Given the description of an element on the screen output the (x, y) to click on. 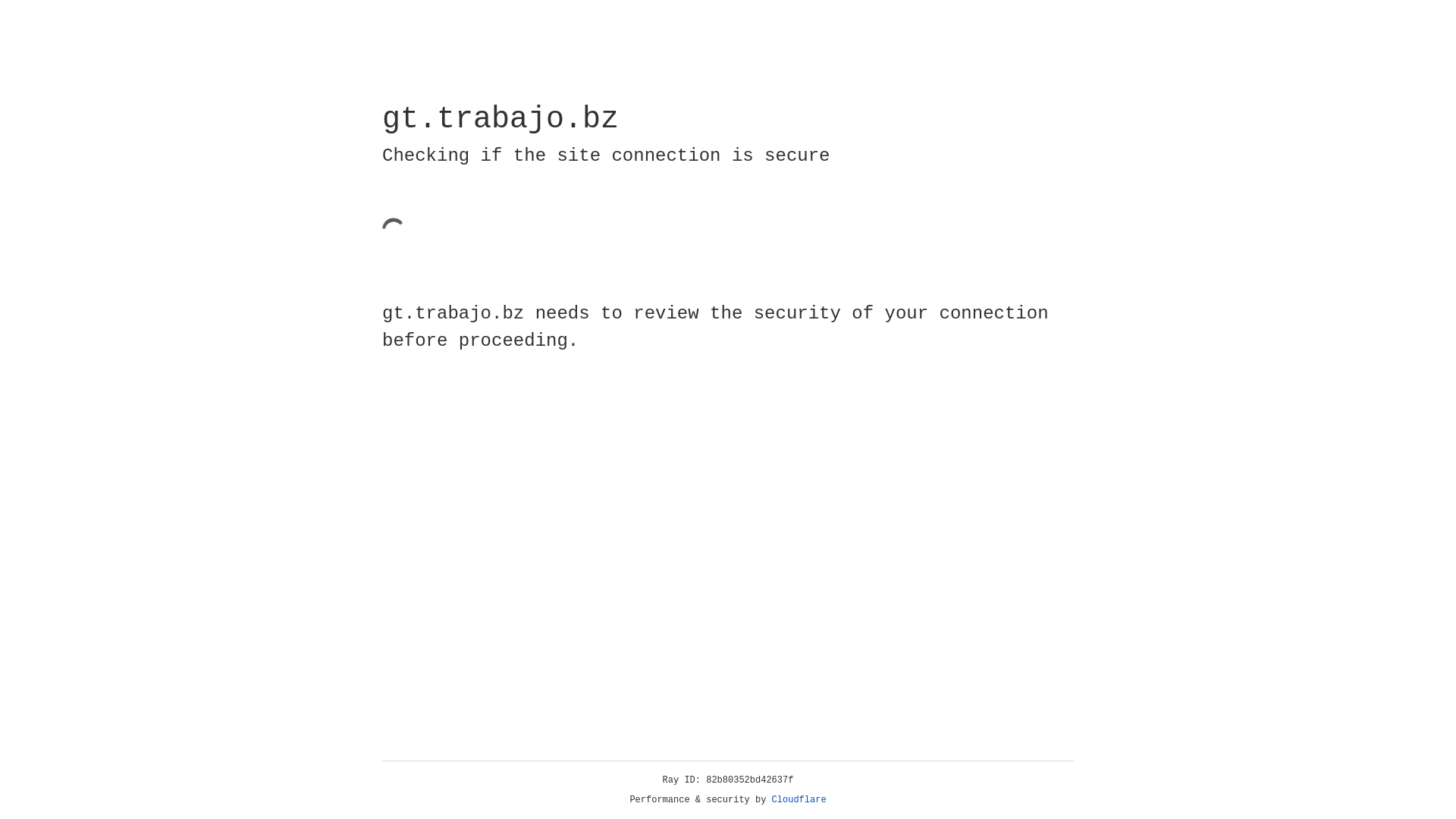
Cloudflare Element type: text (798, 799)
